Given the description of an element on the screen output the (x, y) to click on. 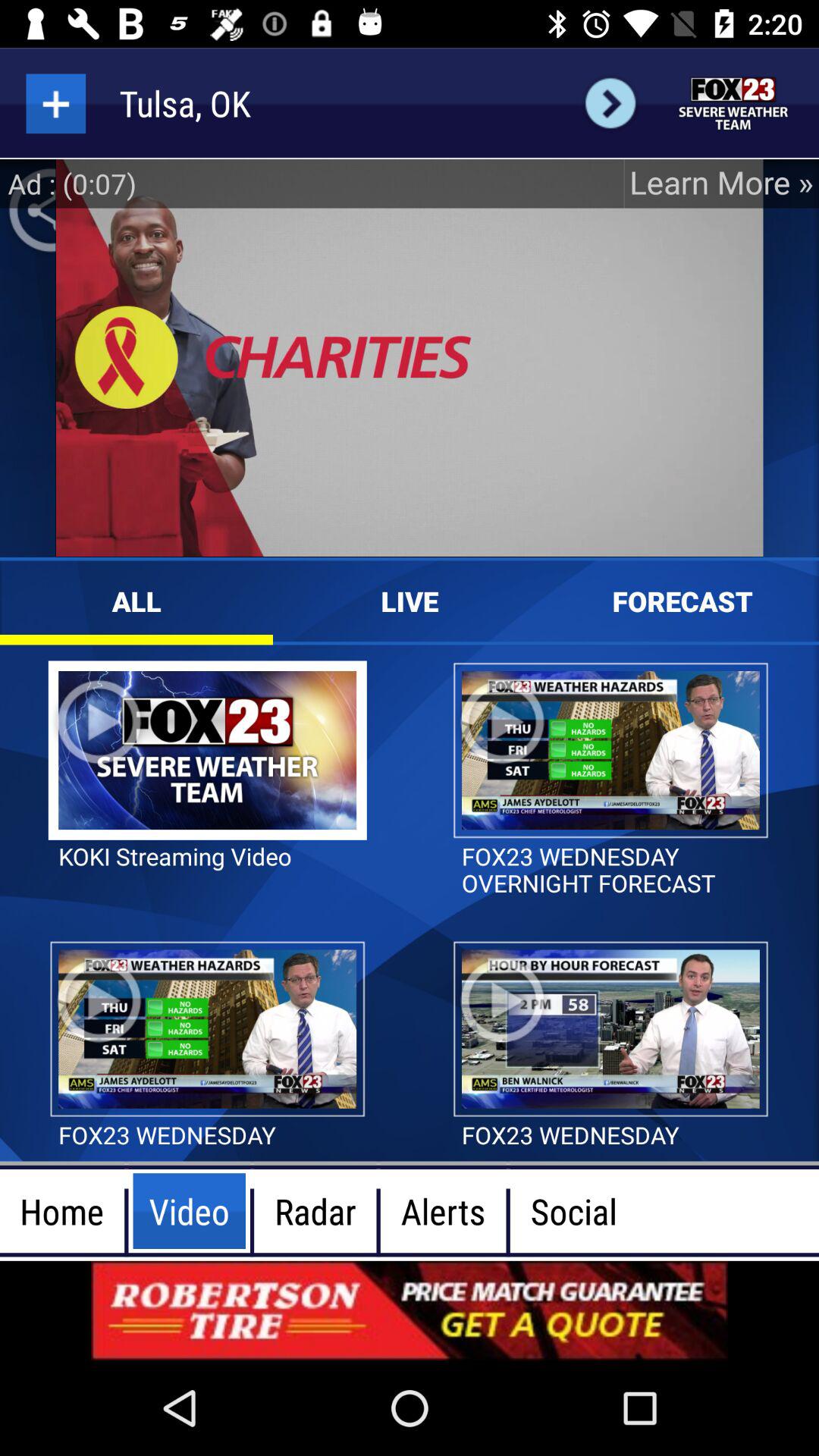
next button (610, 103)
